Given the description of an element on the screen output the (x, y) to click on. 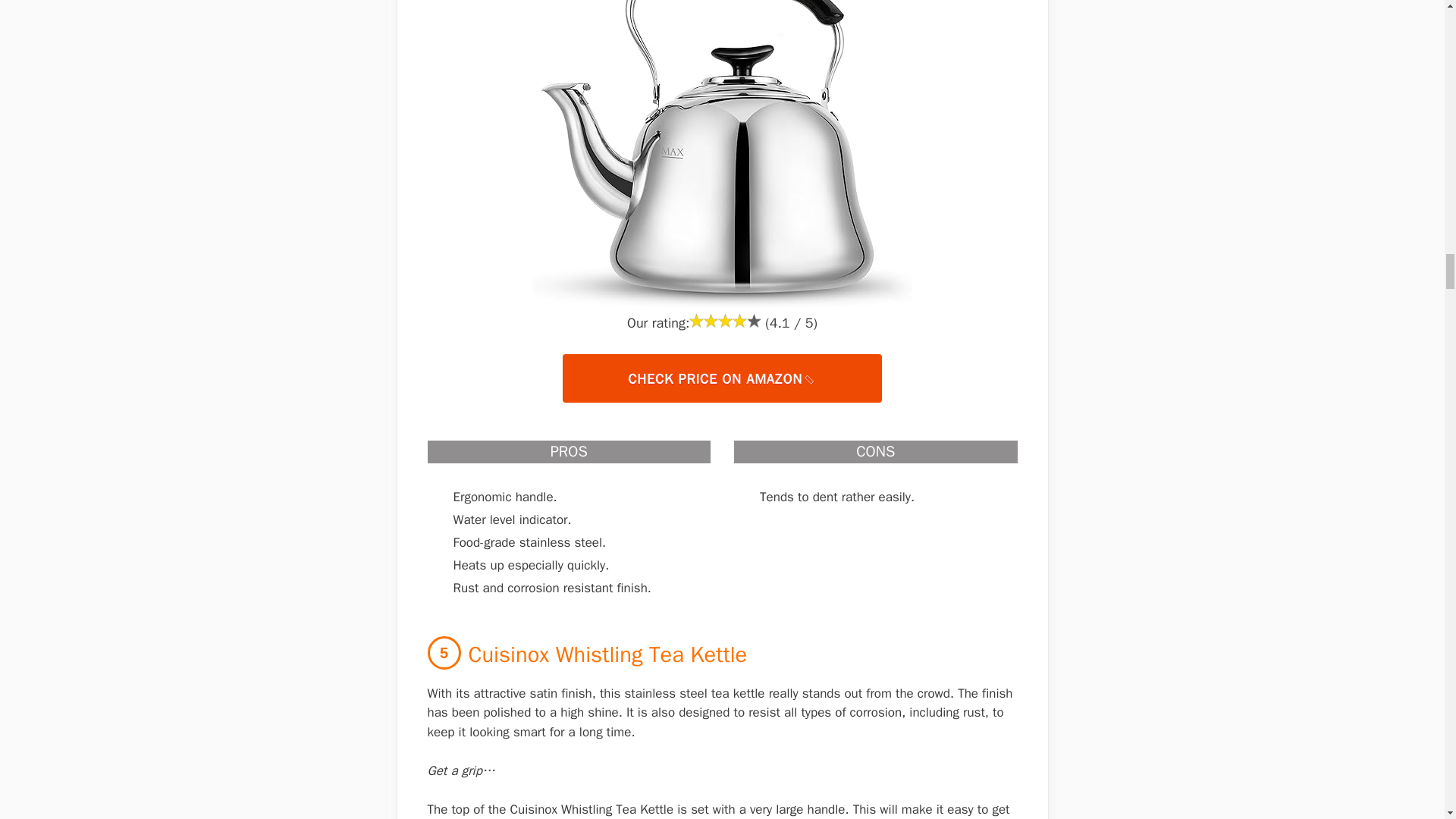
CHECK PRICE ON AMAZON (721, 378)
